Given the description of an element on the screen output the (x, y) to click on. 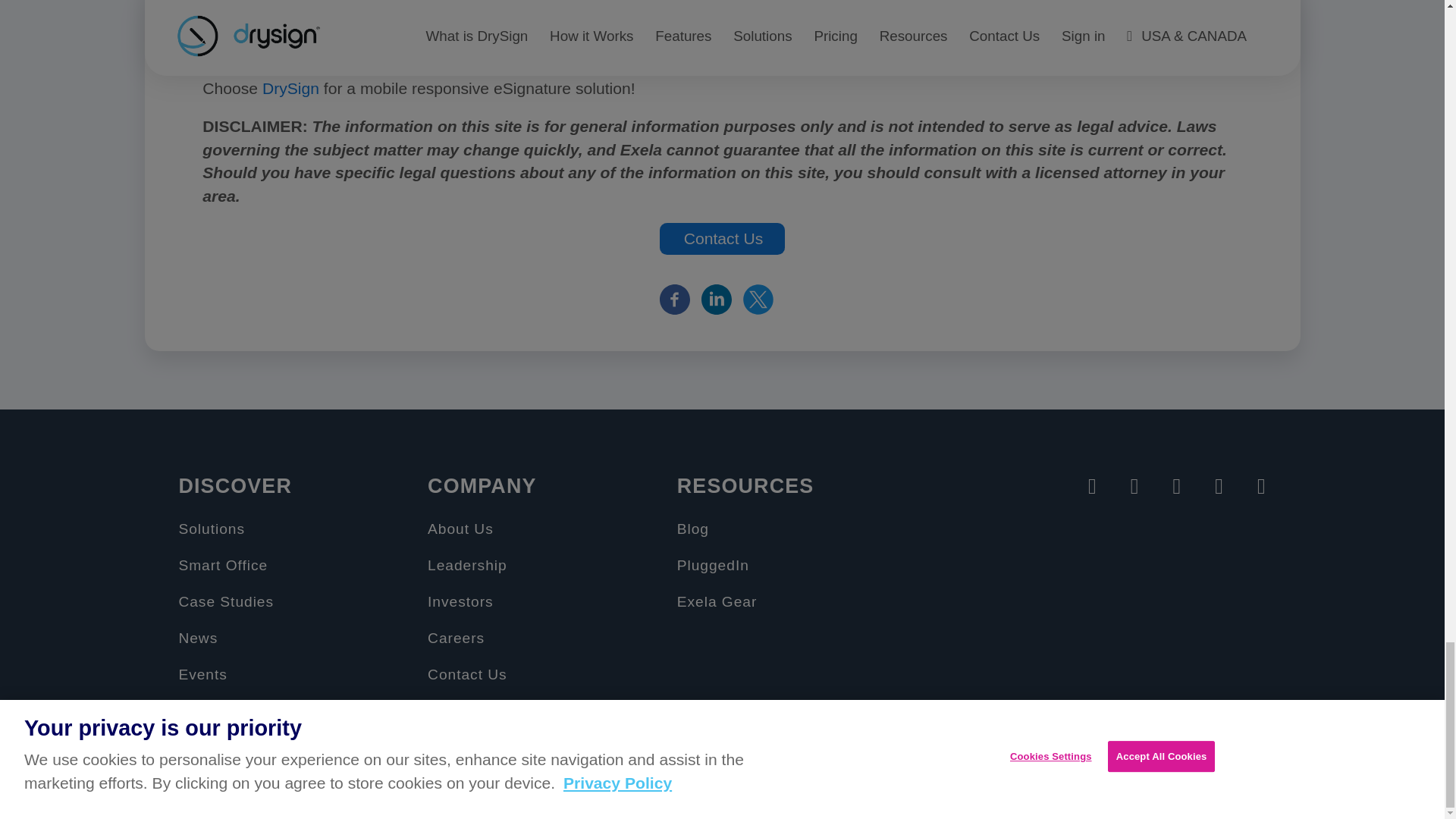
Careers (456, 637)
Case Studies (225, 601)
Contact Us (467, 674)
Solutions (210, 528)
Blog (693, 528)
Leadership (467, 565)
News (196, 637)
Investors (460, 601)
Facebook (674, 297)
Events (202, 674)
Twitter (757, 297)
Linkedin (716, 297)
About Us (460, 528)
Smart Office (222, 565)
